Given the description of an element on the screen output the (x, y) to click on. 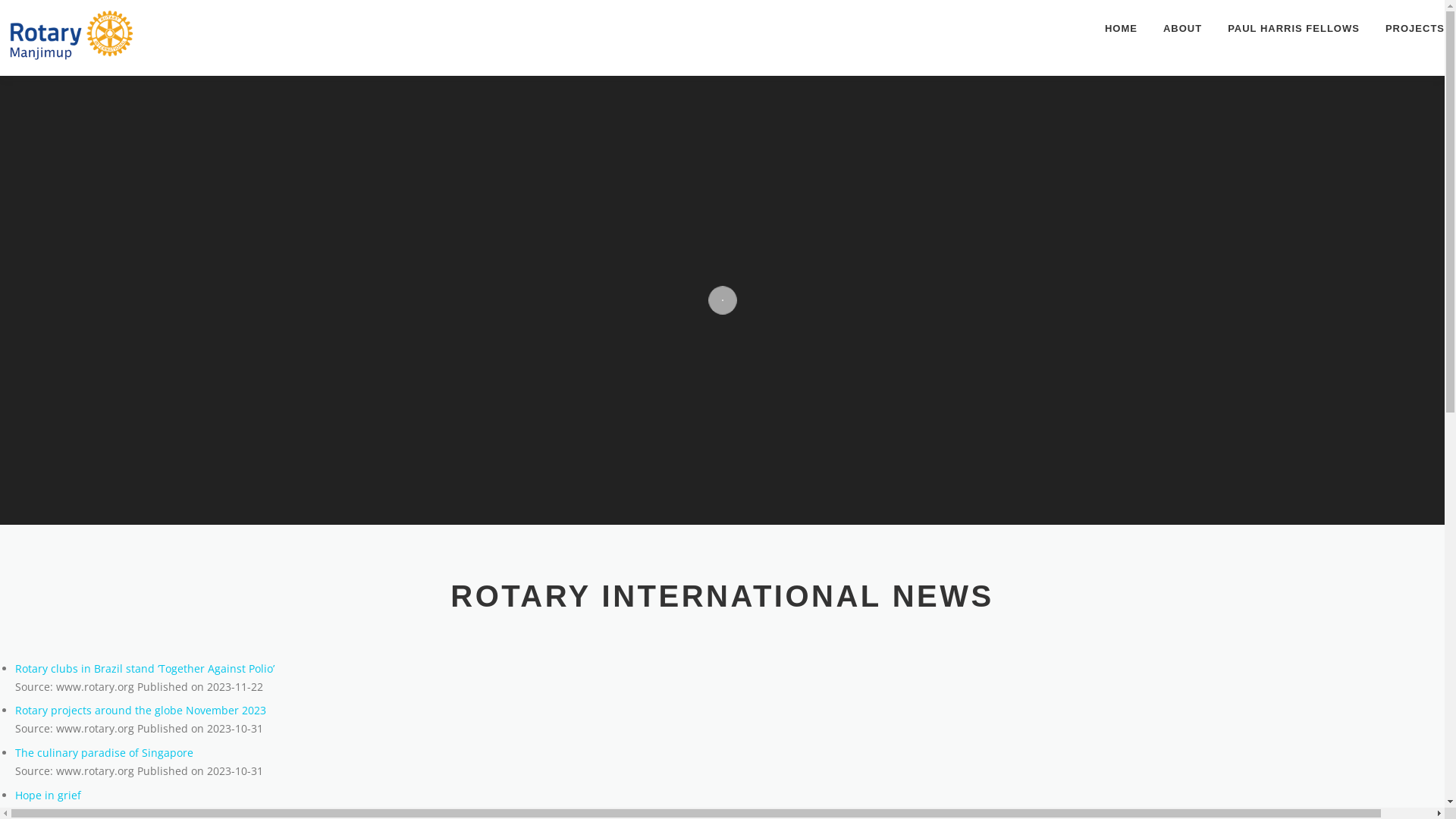
Rotary projects around the globe November 2023 Element type: text (140, 709)
Hope in grief Element type: text (48, 794)
HOME Element type: text (1121, 28)
PROJECTS Element type: text (1408, 28)
PAUL HARRIS FELLOWS Element type: text (1293, 28)
ABOUT Element type: text (1182, 28)
The culinary paradise of Singapore Element type: text (104, 752)
